Given the description of an element on the screen output the (x, y) to click on. 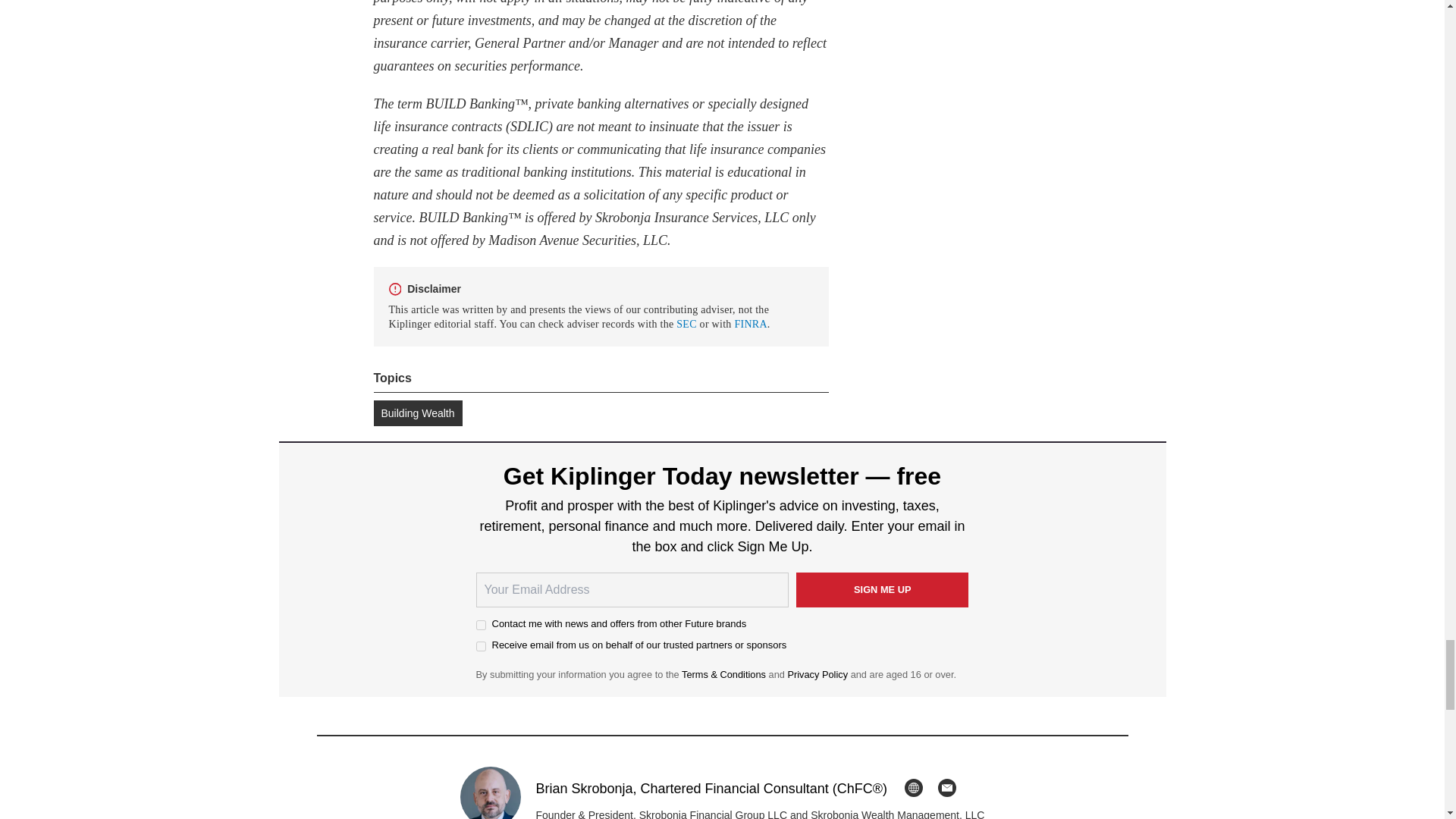
Sign me up (882, 589)
on (481, 646)
on (481, 624)
